Given the description of an element on the screen output the (x, y) to click on. 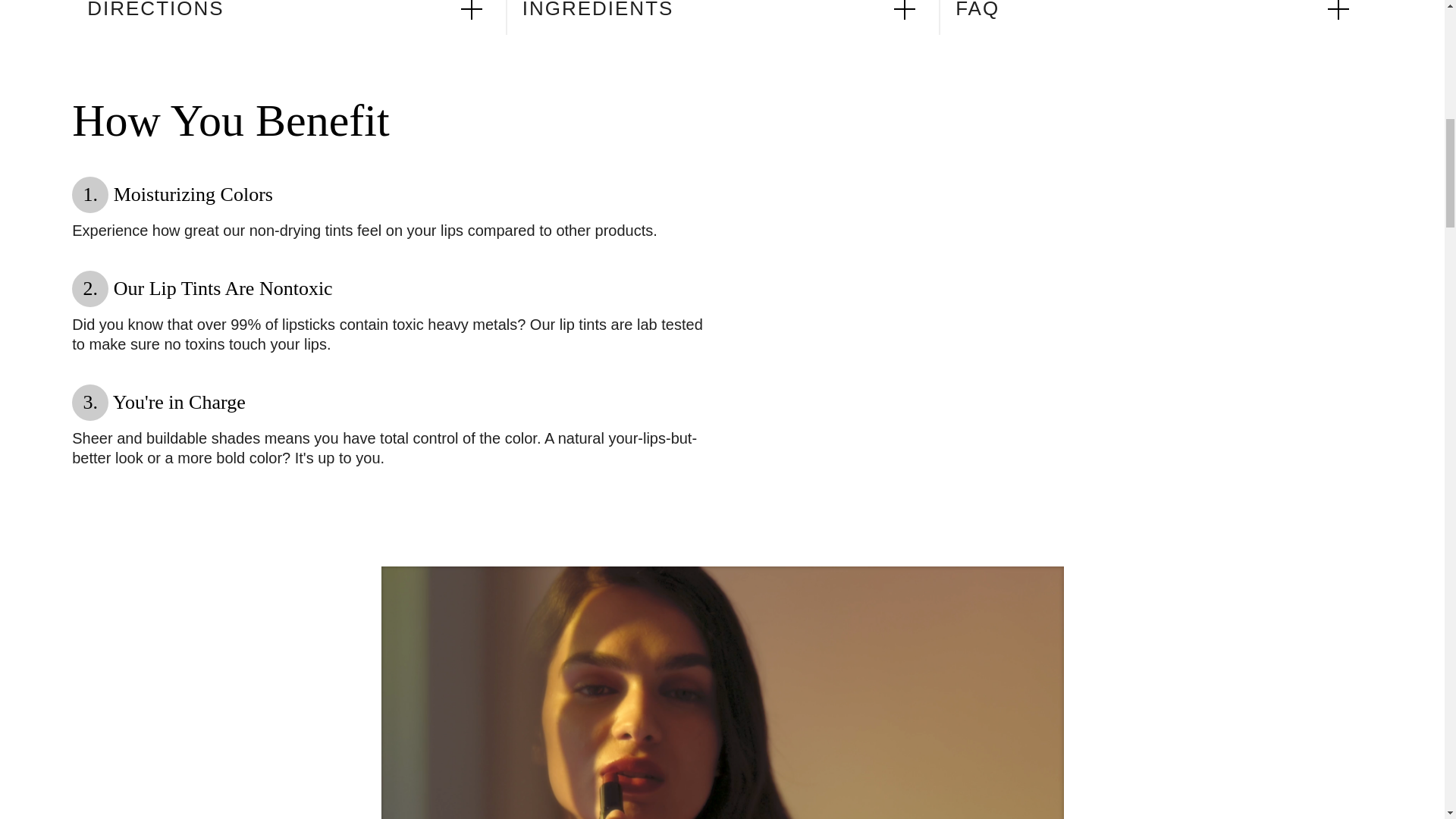
INGREDIENTS (730, 17)
DIRECTIONS (296, 17)
FAQ (1163, 17)
